Given the description of an element on the screen output the (x, y) to click on. 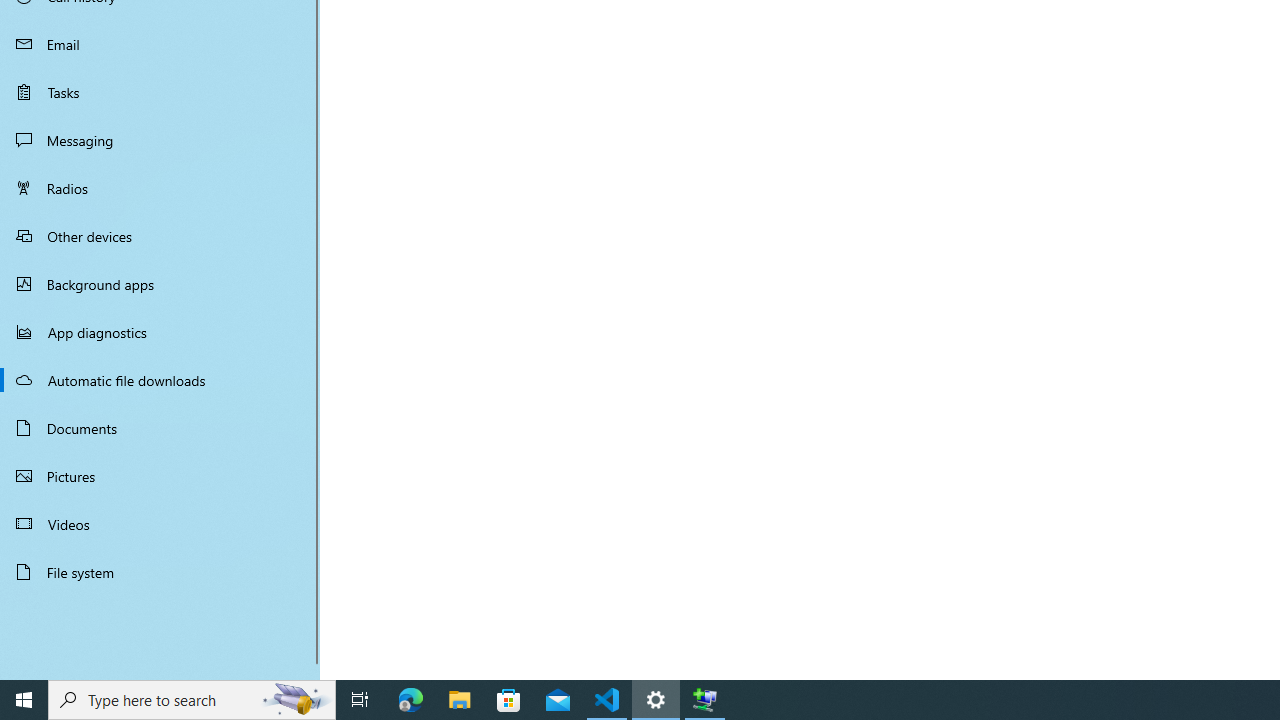
Background apps (160, 283)
Pictures (160, 475)
Tasks (160, 91)
Other devices (160, 235)
Documents (160, 427)
App diagnostics (160, 331)
Extensible Wizards Host Process - 1 running window (704, 699)
Email (160, 43)
Videos (160, 523)
